Given the description of an element on the screen output the (x, y) to click on. 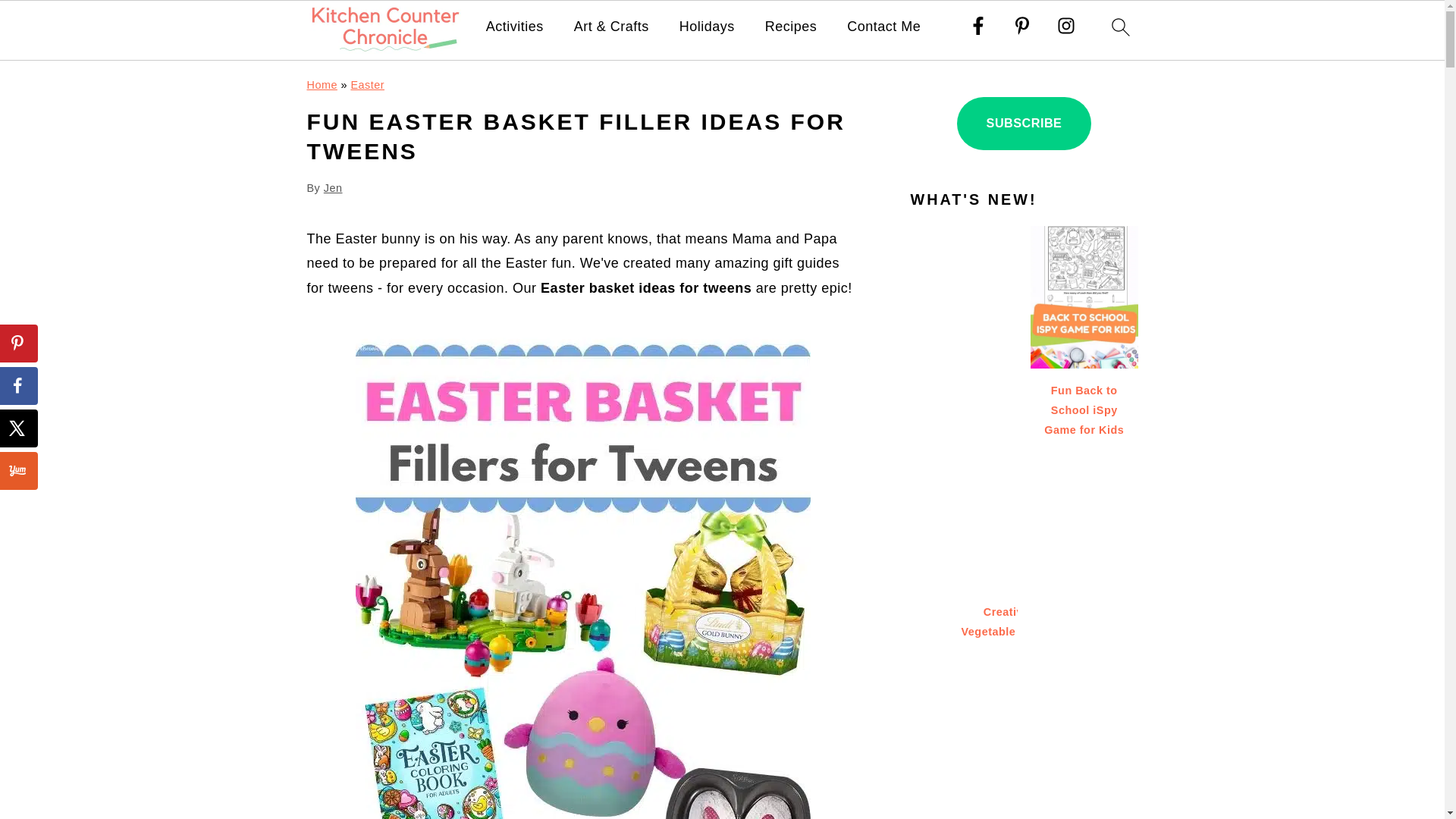
Recipes (790, 27)
Holidays (707, 27)
Share on Facebook (18, 385)
Activities (514, 27)
Save to Pinterest (18, 343)
Contact Me (883, 27)
Jen (332, 187)
Share on X (18, 428)
Share on Yummly (18, 470)
Home (320, 84)
